Given the description of an element on the screen output the (x, y) to click on. 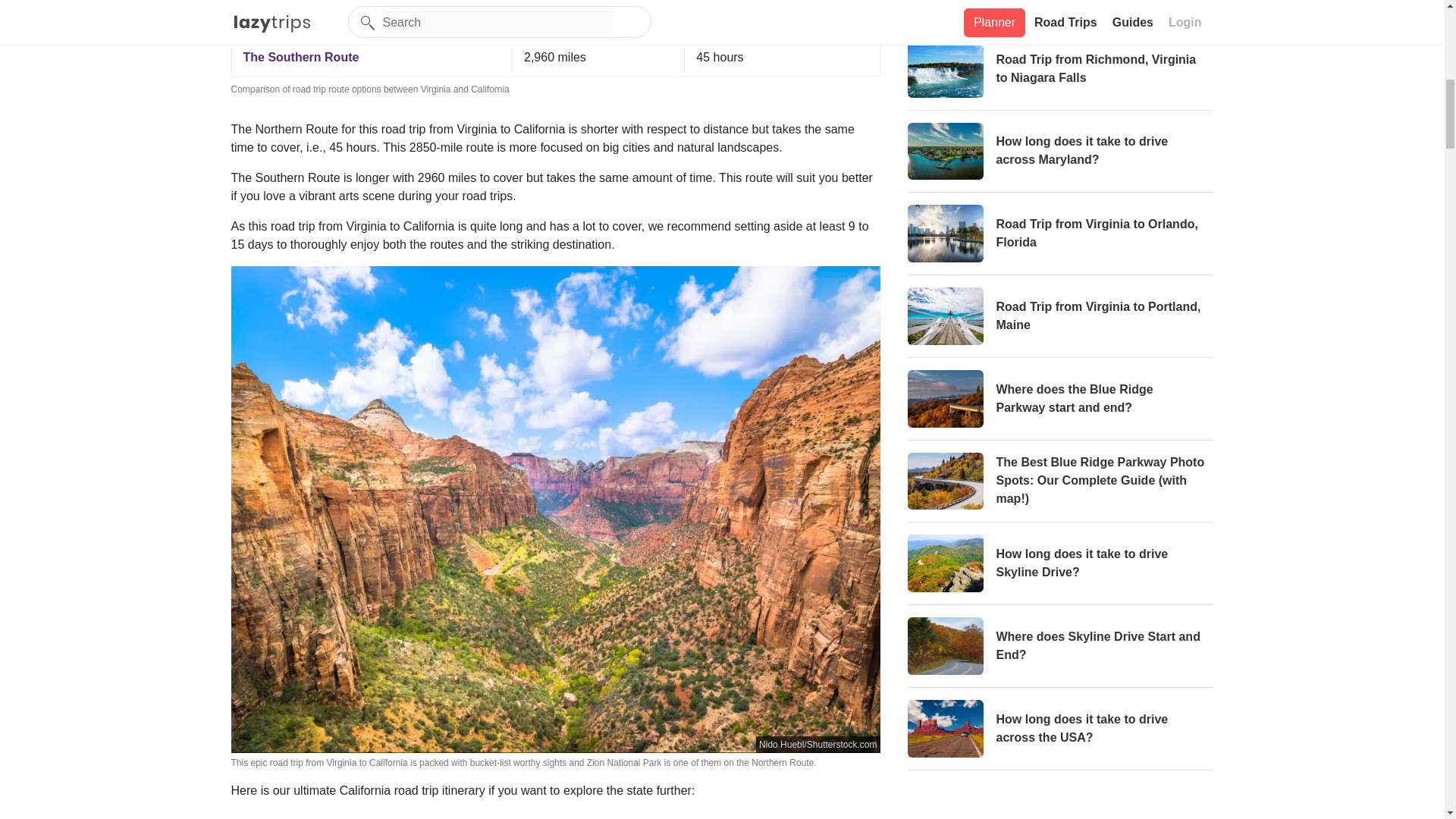
Where does Skyline Drive Start and End? (1059, 652)
Where does the Blue Ridge Parkway start and end? (1059, 405)
Road Trip from Virginia to Portland, Maine (1059, 322)
Road Trip from Charlotte, NC to New York (1059, 13)
Road Trip from Virginia to Orlando, Florida (1059, 239)
How long does it take to drive across Maryland? (1059, 157)
Road Trip from Richmond, Virginia to Niagara Falls (1059, 75)
How long does it take to drive across the USA? (1059, 735)
How long does it take to drive Skyline Drive? (1059, 569)
